Given the description of an element on the screen output the (x, y) to click on. 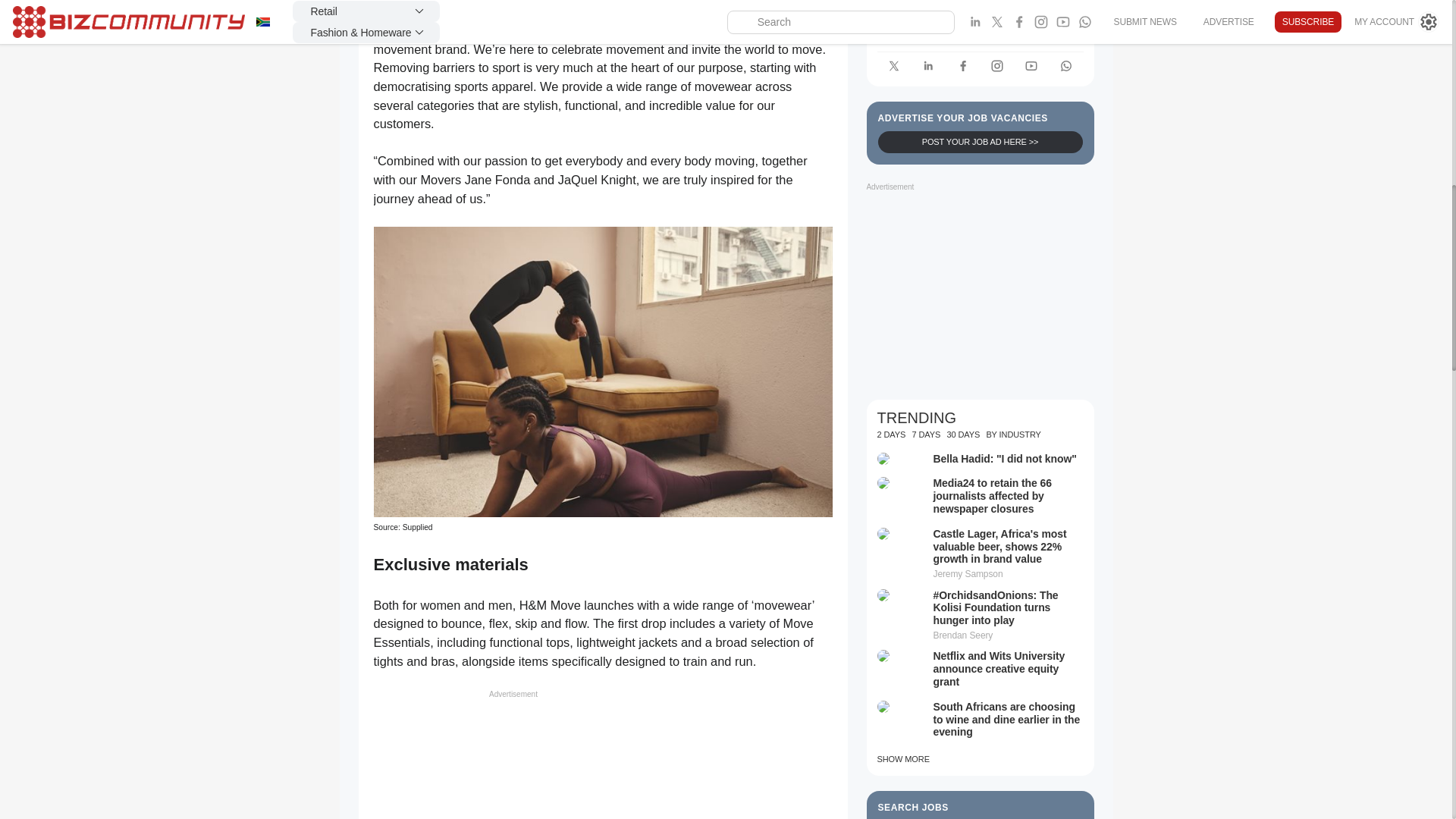
Bizcommunity linked (927, 66)
Bizcommunity facebook (962, 66)
